Given the description of an element on the screen output the (x, y) to click on. 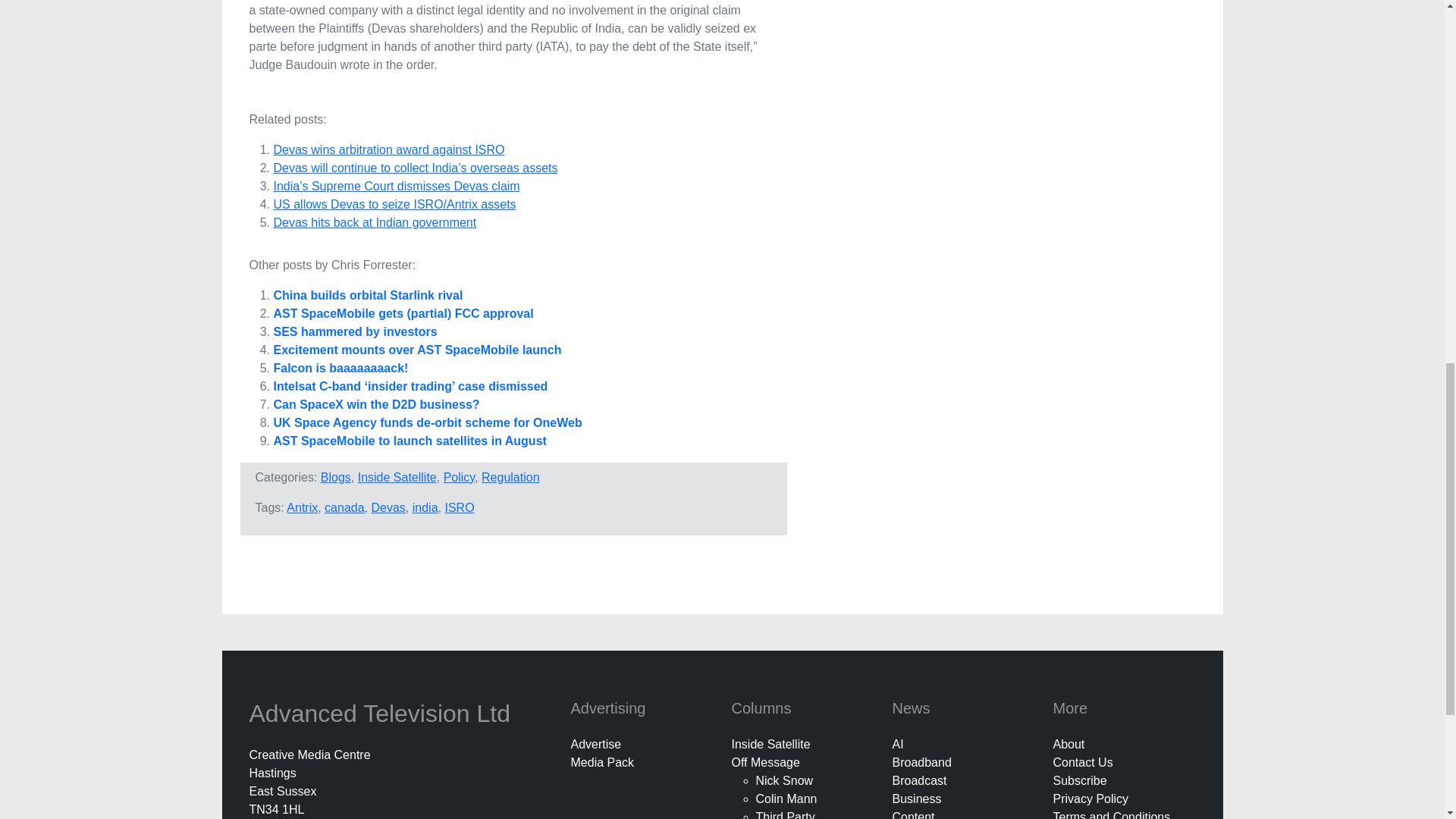
canada (344, 507)
india (425, 507)
Devas wins arbitration award against ISRO (388, 149)
Excitement mounts over AST SpaceMobile launch (416, 349)
Antrix (301, 507)
UK Space Agency funds de-orbit scheme for OneWeb (426, 422)
Devas (388, 507)
SES hammered by investors (354, 331)
Regulation (510, 477)
Can SpaceX win the D2D business? (376, 404)
